Given the description of an element on the screen output the (x, y) to click on. 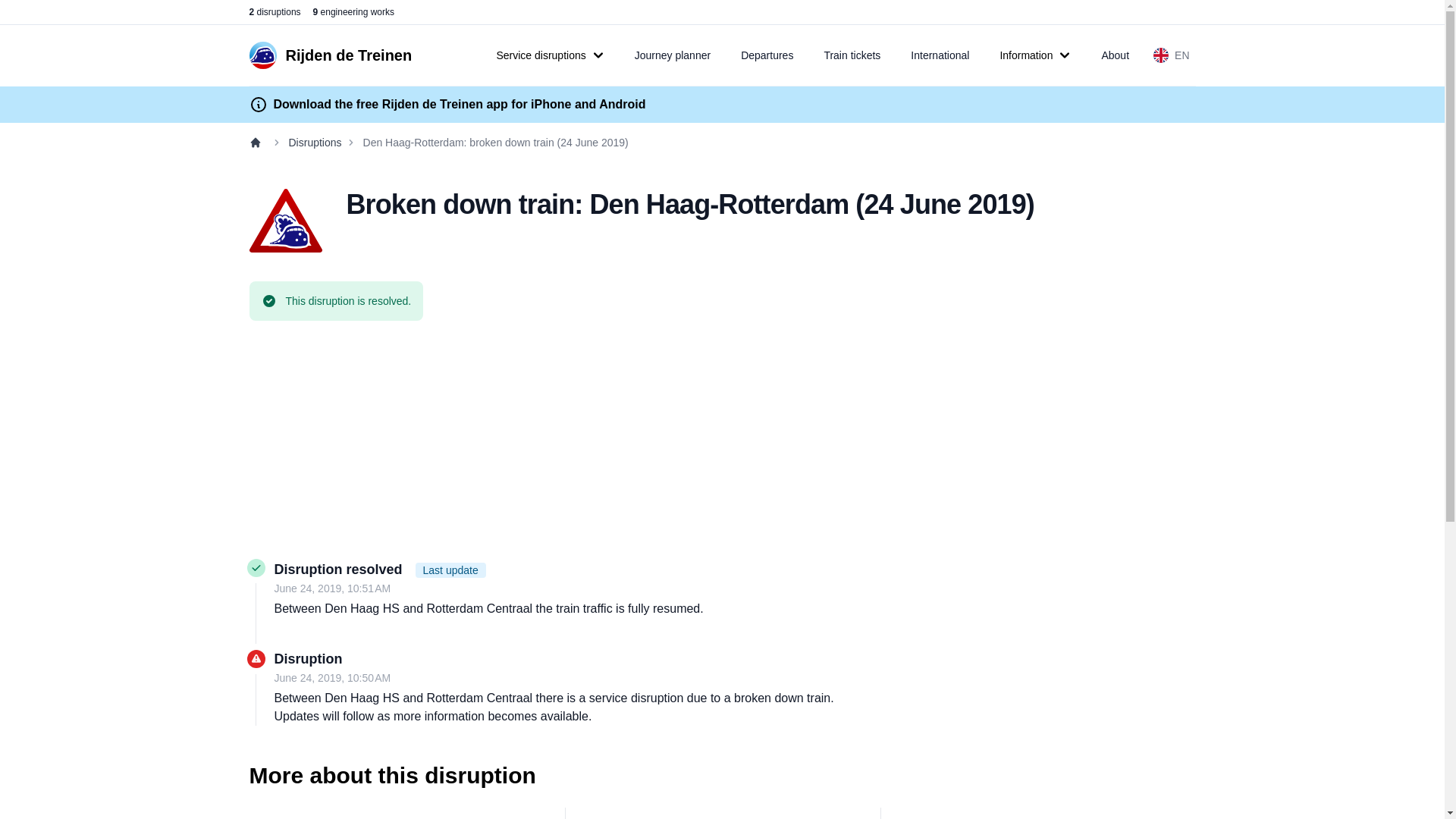
Service disruptions (549, 55)
Train tickets (851, 55)
2 disruptions (273, 11)
9 engineering works (353, 11)
About (1115, 55)
Engineering works (353, 11)
Disruptions (273, 11)
Information (1035, 55)
Home (257, 142)
